Given the description of an element on the screen output the (x, y) to click on. 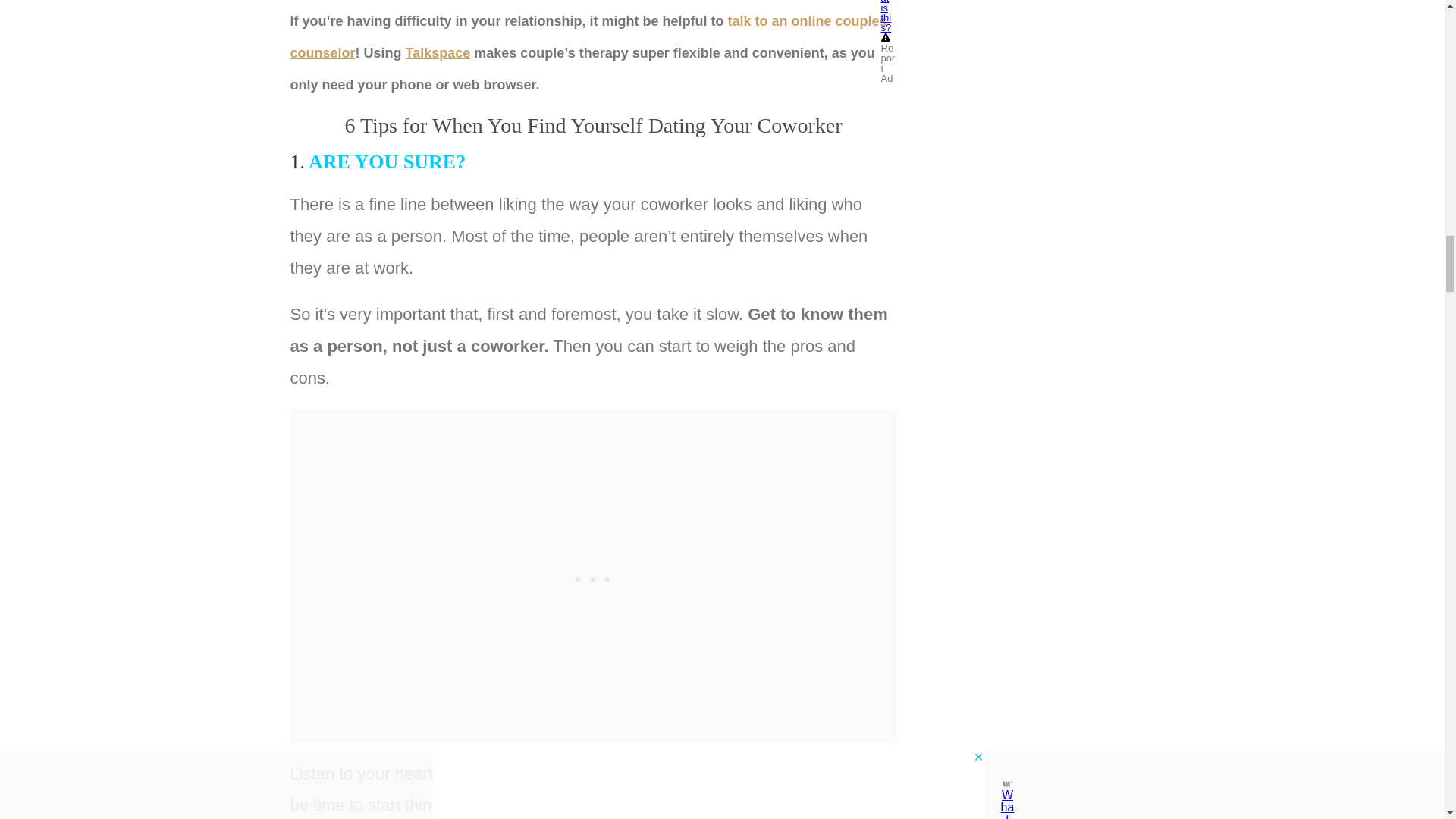
Talkspace (438, 52)
talk to an online couples counselor (587, 36)
